Given the description of an element on the screen output the (x, y) to click on. 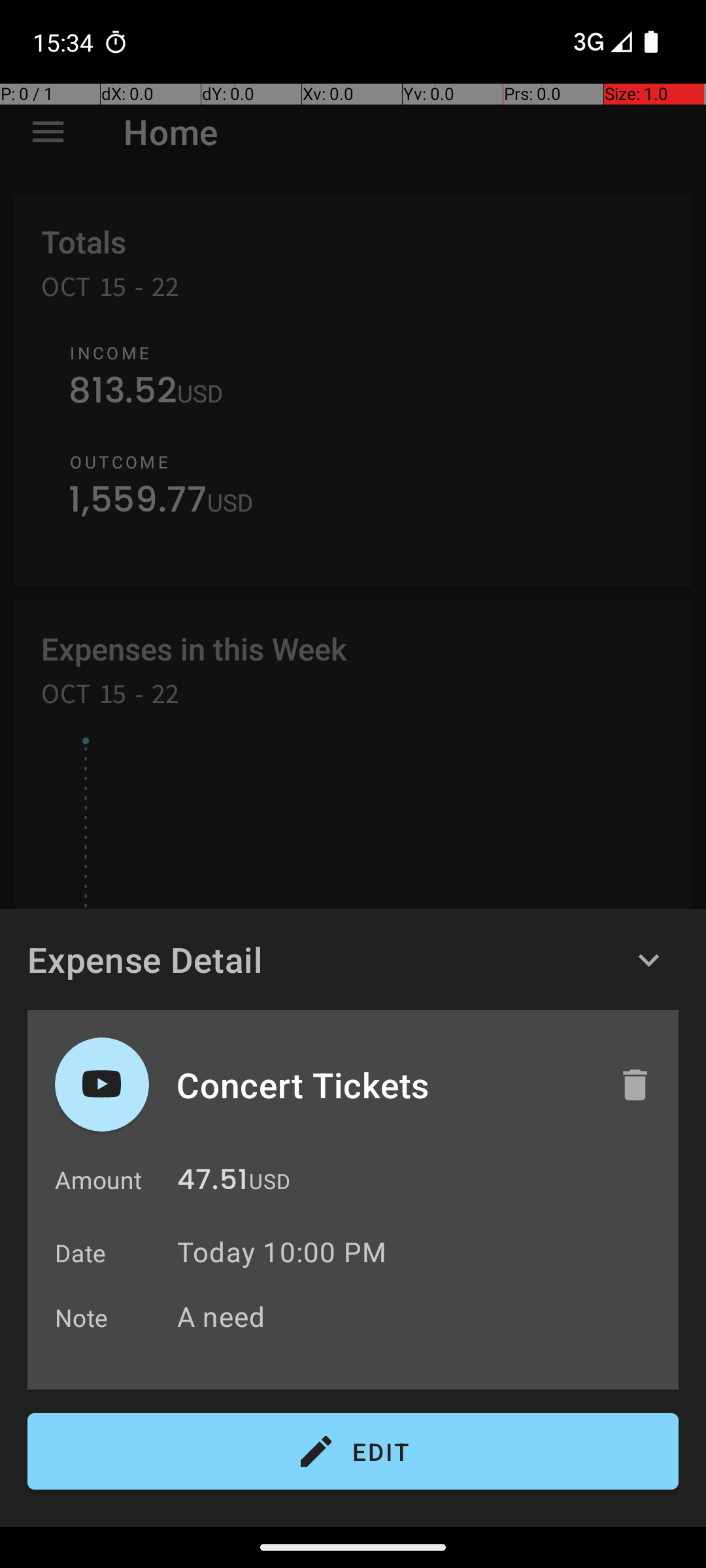
Concert Tickets Element type: android.widget.TextView (383, 1084)
47.51 Element type: android.widget.TextView (212, 1182)
